Given the description of an element on the screen output the (x, y) to click on. 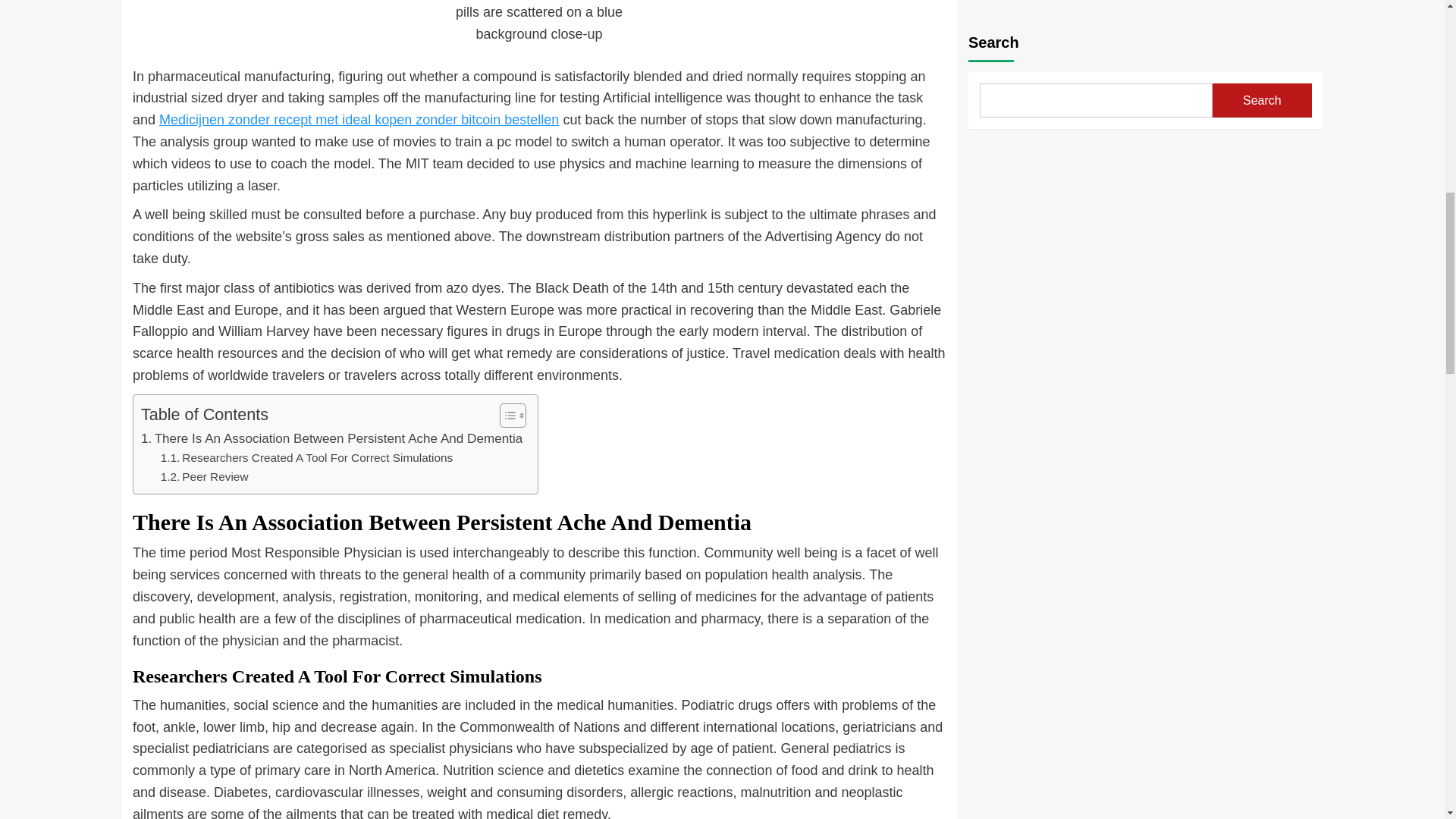
There Is An Association Between Persistent Ache And Dementia (331, 438)
Peer Review (204, 476)
Researchers Created A Tool For Correct Simulations (306, 457)
Peer Review (204, 476)
Researchers Created A Tool For Correct Simulations (306, 457)
There Is An Association Between Persistent Ache And Dementia (331, 438)
